Given the description of an element on the screen output the (x, y) to click on. 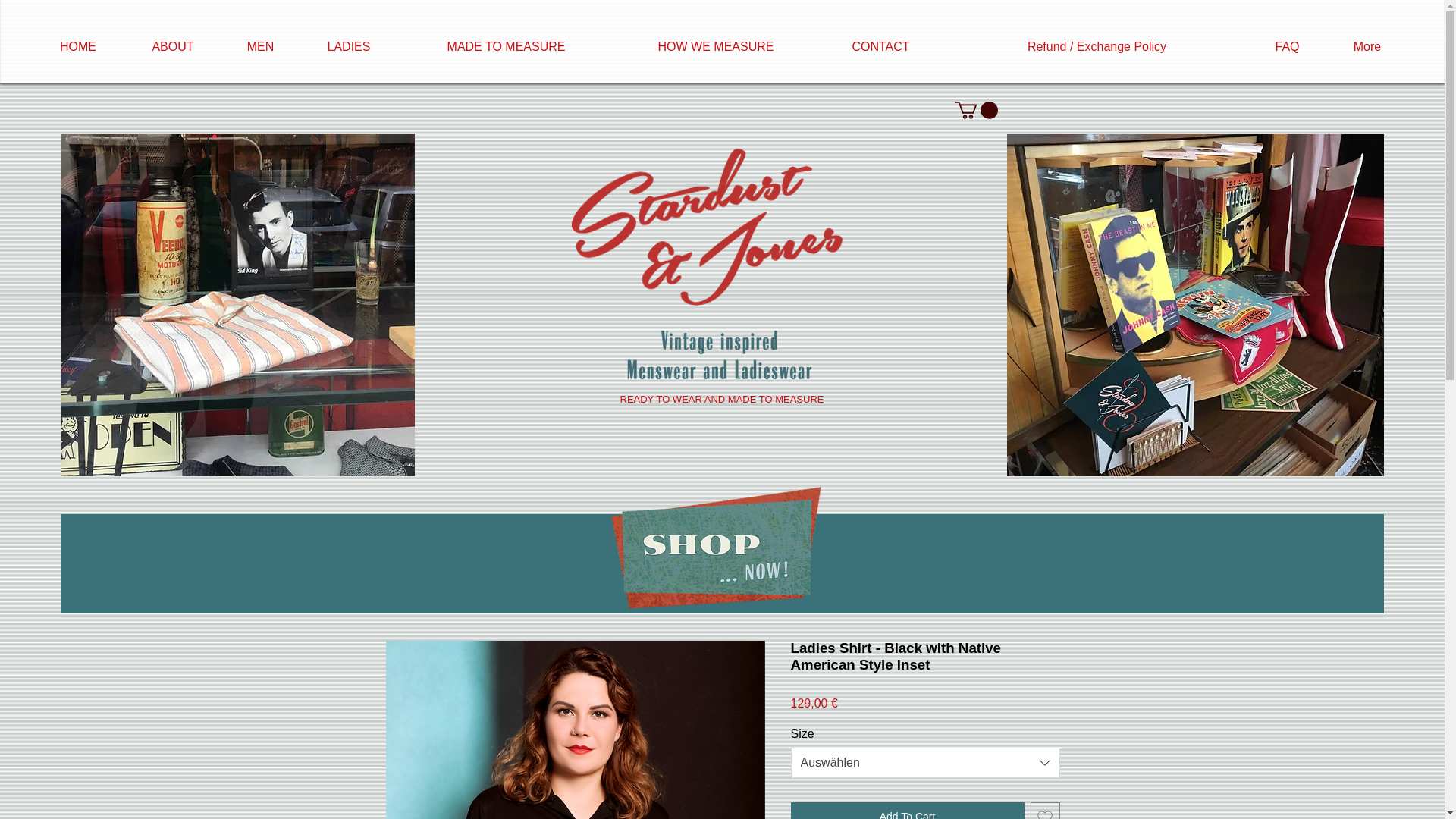
FAQ (1286, 46)
HOW WE MEASURE (715, 46)
MADE TO MEASURE (505, 46)
LADIES (348, 46)
ABOUT (172, 46)
CONTACT (880, 46)
MEN (260, 46)
HOME (77, 46)
Add To Cart (906, 810)
